Given the description of an element on the screen output the (x, y) to click on. 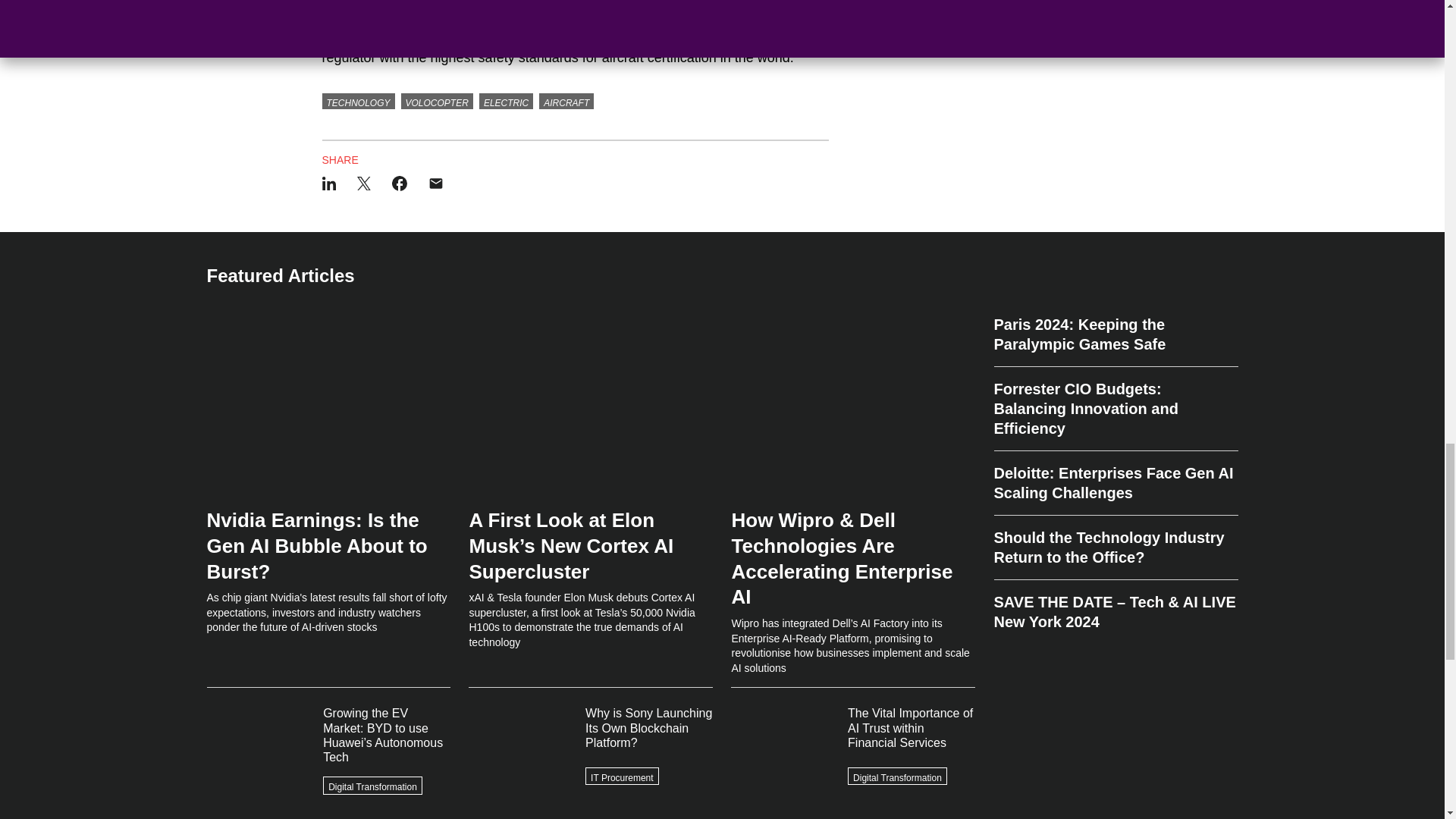
Forrester CIO Budgets: Balancing Innovation and Efficiency (1114, 408)
Paris 2024: Keeping the Paralympic Games Safe (1114, 340)
Should the Technology Industry Return to the Office? (1114, 547)
TECHNOLOGY (357, 101)
VOLOCOPTER (437, 101)
Deloitte: Enterprises Face Gen AI Scaling Challenges (1114, 483)
ELECTRIC (505, 101)
AIRCRAFT (566, 101)
